Given the description of an element on the screen output the (x, y) to click on. 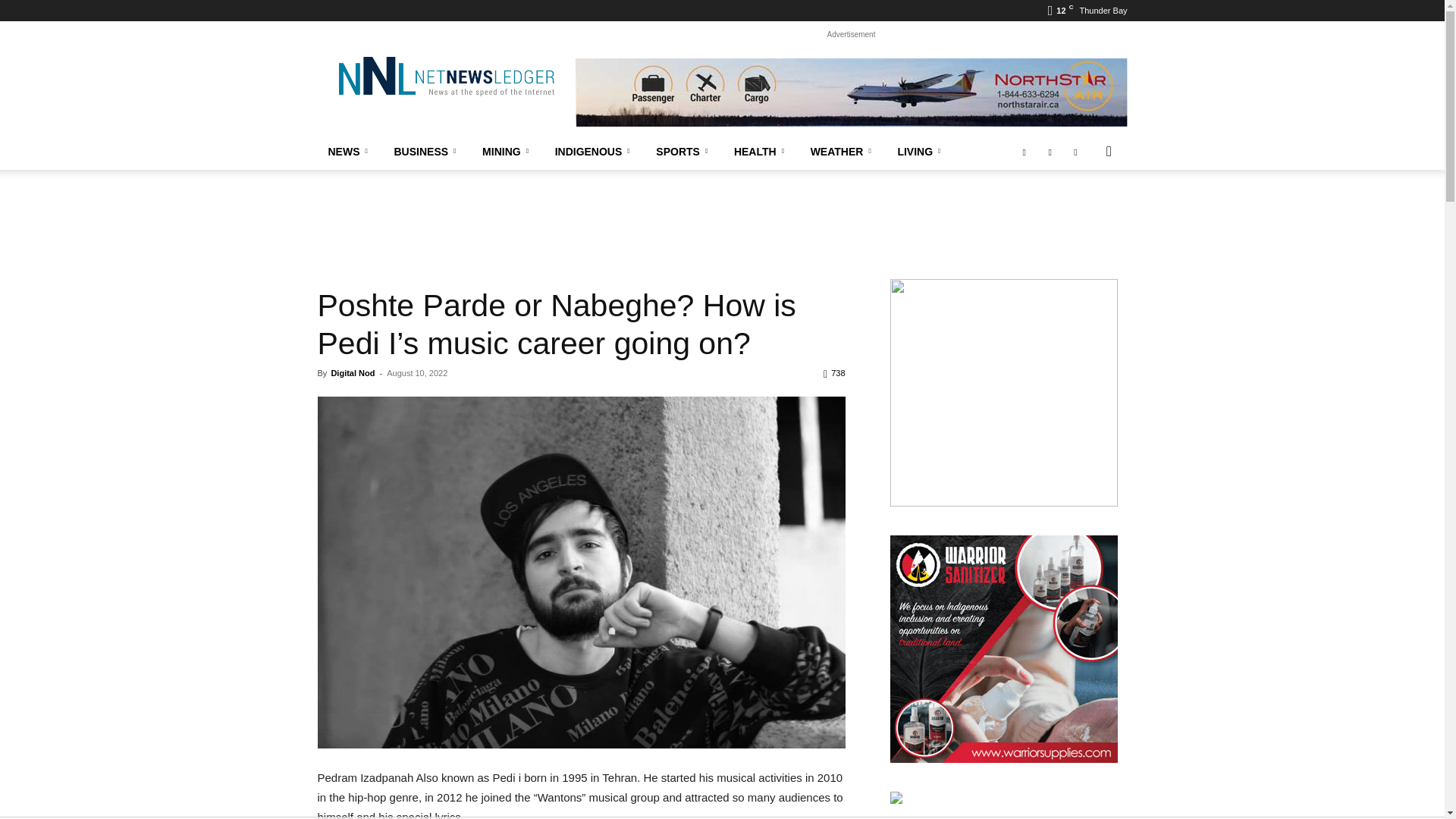
NetNewsLedger (445, 76)
North Star Air (850, 92)
